Given the description of an element on the screen output the (x, y) to click on. 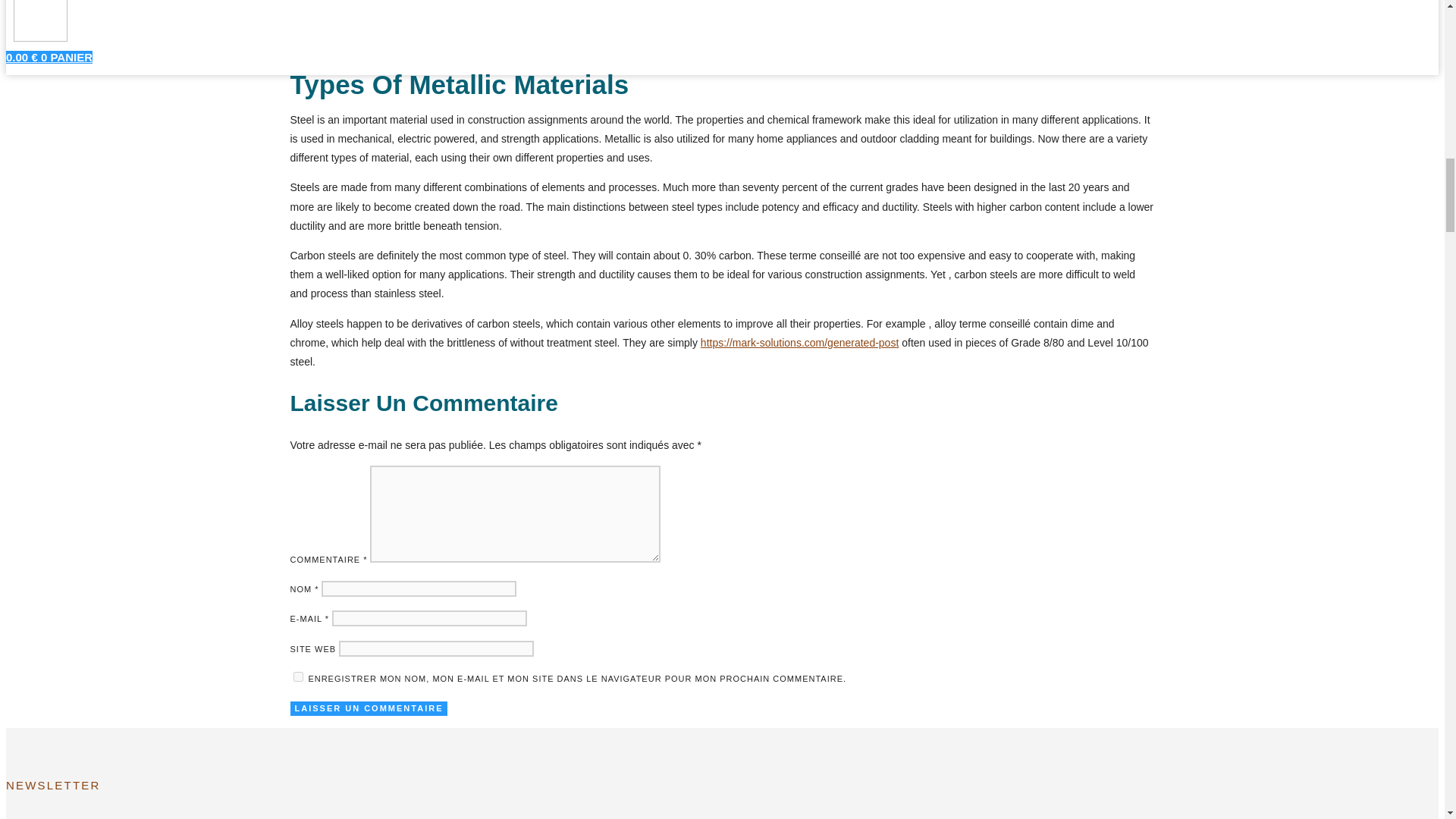
yes (297, 676)
Laisser un commentaire (367, 708)
NEWSLETTER (244, 785)
